Given the description of an element on the screen output the (x, y) to click on. 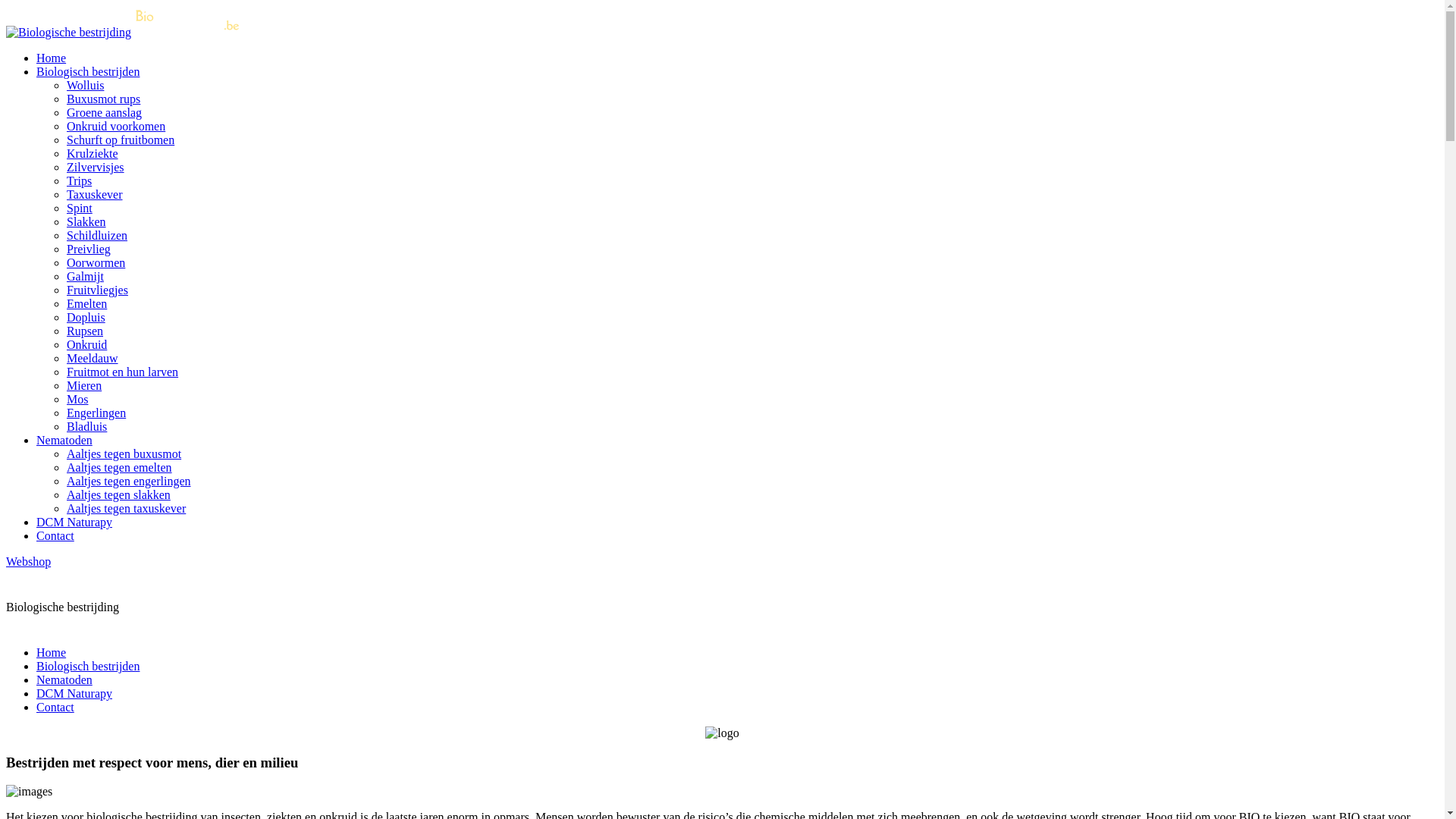
Schurft op fruitbomen Element type: text (120, 139)
Galmijt Element type: text (84, 275)
Onkruid voorkomen Element type: text (115, 125)
Aaltjes tegen slakken Element type: text (118, 494)
Preivlieg Element type: text (88, 248)
Aaltjes tegen taxuskever Element type: text (125, 508)
Mos Element type: text (76, 398)
Krulziekte Element type: text (92, 153)
Contact Element type: text (55, 535)
Groene aanslag Element type: text (103, 112)
Nematoden Element type: text (64, 679)
DCM Naturapy Element type: text (74, 693)
Contact Element type: text (55, 706)
Wolluis Element type: text (84, 84)
Fruitmot en hun larven Element type: text (122, 371)
Onkruid Element type: text (86, 344)
DCM Naturapy Element type: text (74, 521)
Engerlingen Element type: text (95, 412)
Meeldauw Element type: text (92, 357)
Zilvervisjes Element type: text (95, 166)
Webshop Element type: text (28, 561)
Buxusmot rups Element type: text (103, 98)
Aaltjes tegen engerlingen Element type: text (128, 480)
Biologisch bestrijden Element type: text (87, 665)
Home Element type: text (50, 652)
Aaltjes tegen buxusmot Element type: text (123, 453)
Oorwormen Element type: text (95, 262)
Bladluis Element type: text (86, 426)
Trips Element type: text (78, 180)
Nematoden Element type: text (64, 439)
Home Element type: text (50, 57)
Schildluizen Element type: text (96, 235)
Mieren Element type: text (83, 385)
Aaltjes tegen emelten Element type: text (119, 467)
Emelten Element type: text (86, 303)
Slakken Element type: text (86, 221)
Biologisch bestrijden Element type: text (87, 71)
Taxuskever Element type: text (94, 194)
Fruitvliegjes Element type: text (97, 289)
Rupsen Element type: text (84, 330)
Dopluis Element type: text (85, 316)
Spint Element type: text (79, 207)
